Given the description of an element on the screen output the (x, y) to click on. 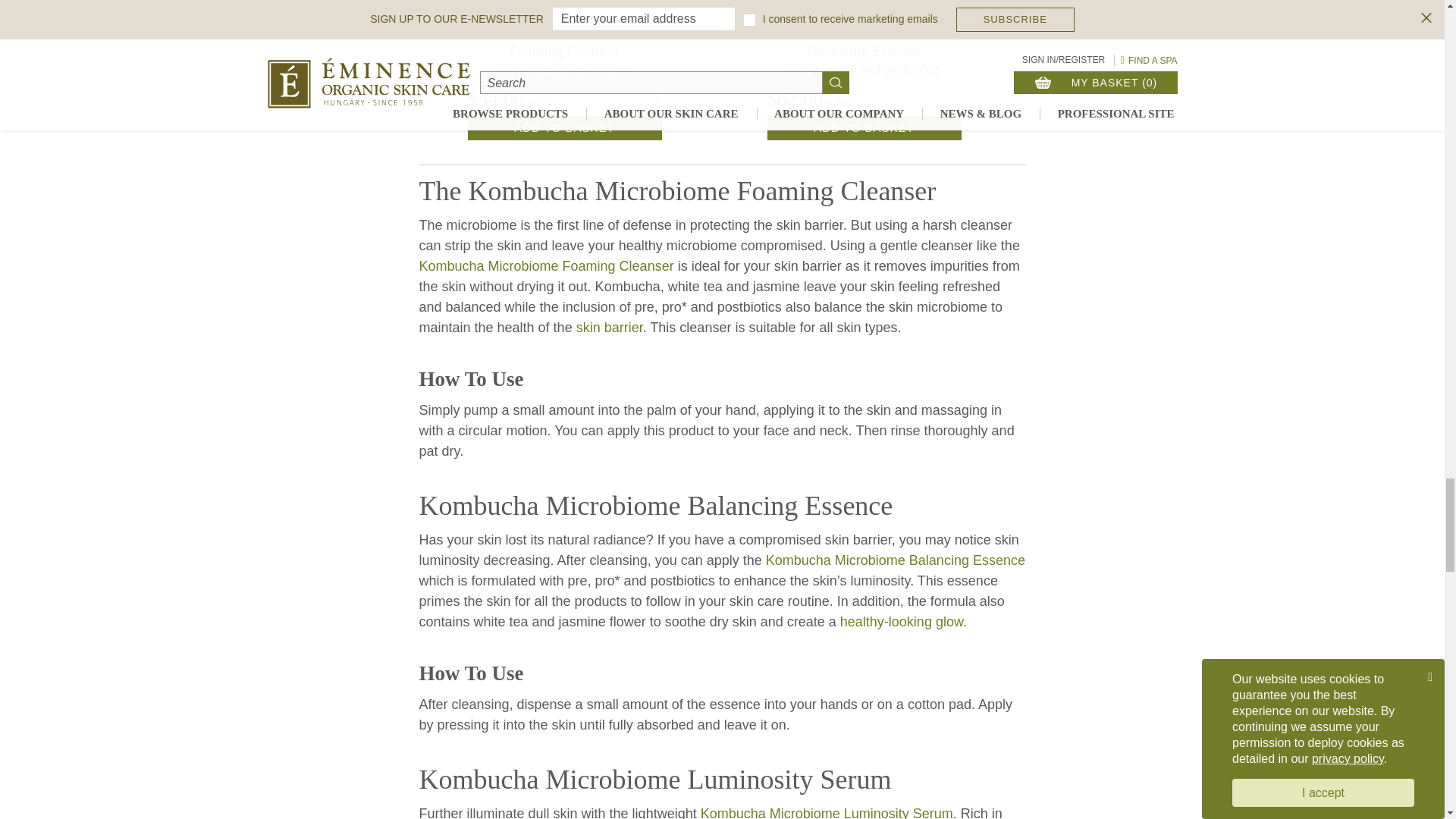
Add to basket (863, 128)
Add to basket (564, 128)
